Given the description of an element on the screen output the (x, y) to click on. 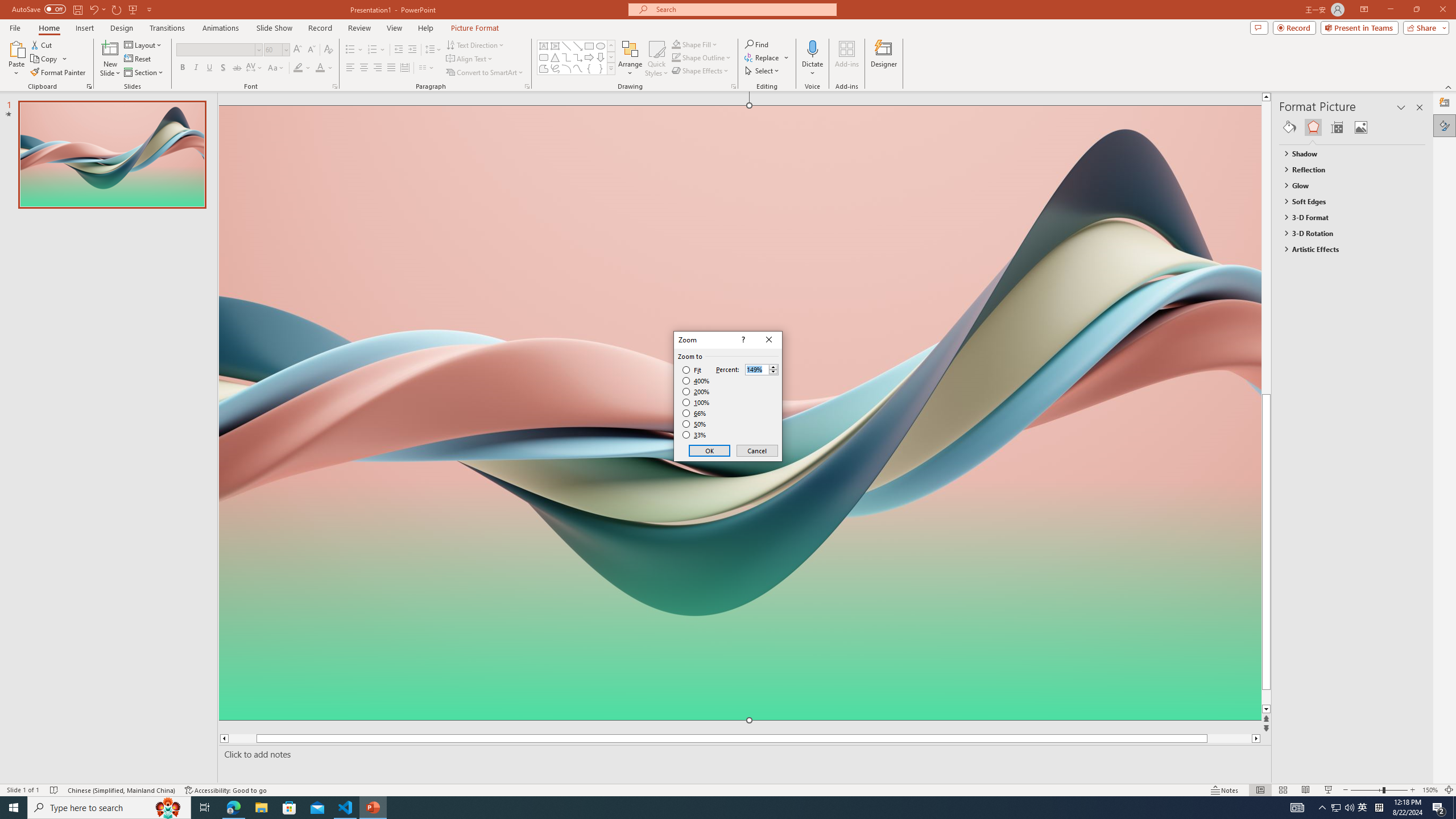
Align Right (377, 67)
Soft Edges (1347, 201)
Context help (742, 339)
Slide Notes (742, 754)
Text Highlight Color (302, 67)
Find... (756, 44)
Paragraph... (526, 85)
Arc (566, 68)
